Given the description of an element on the screen output the (x, y) to click on. 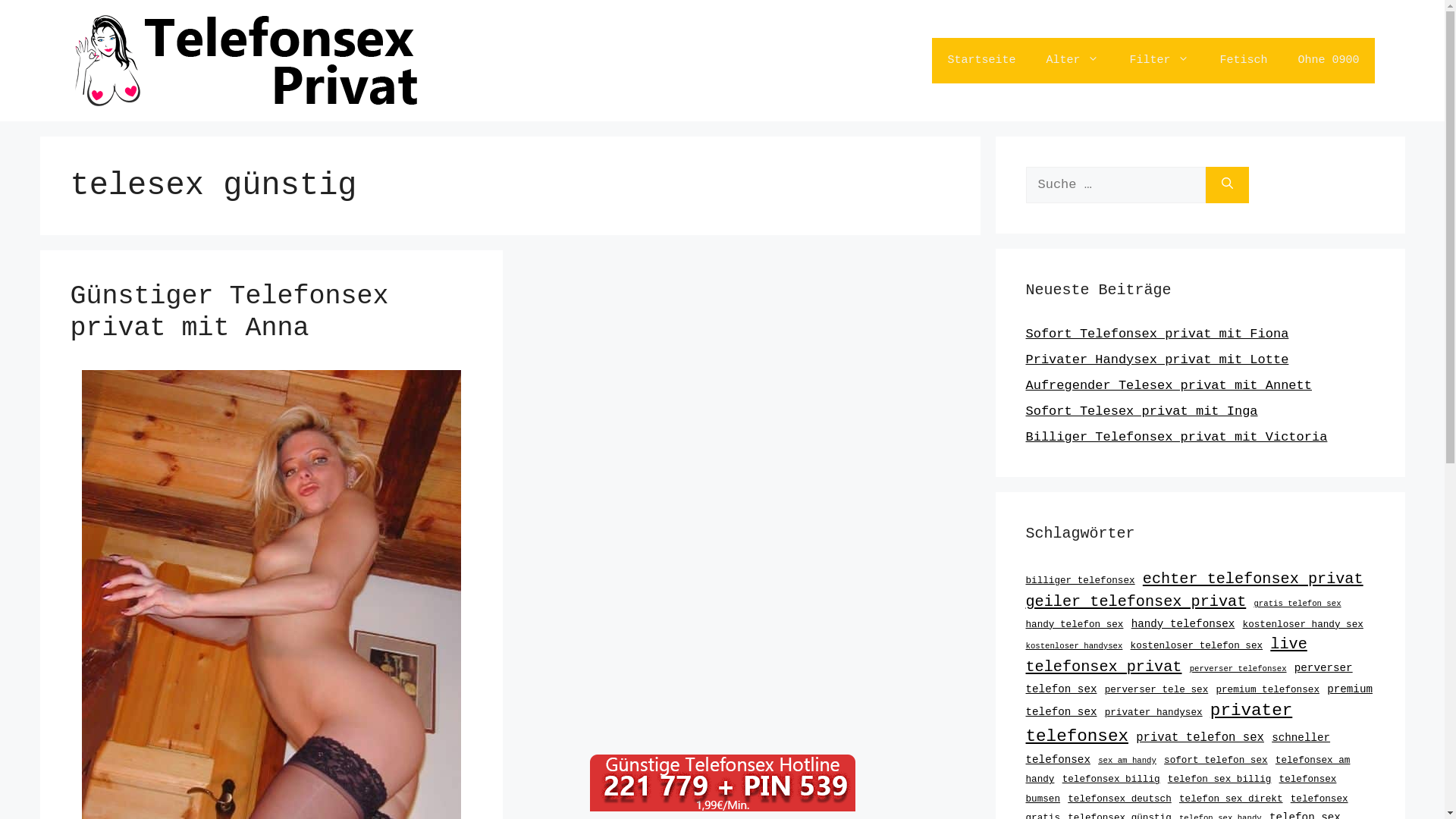
handy telefonsex Element type: text (1183, 624)
gratis telefon sex Element type: text (1296, 603)
Privater Handysex privat mit Lotte Element type: text (1156, 358)
perverser telefon sex Element type: text (1188, 678)
sofort telefon sex Element type: text (1215, 759)
Filter Element type: text (1158, 60)
live telefonsex privat Element type: text (1165, 655)
telefon sex billig Element type: text (1219, 778)
telefonsex am handy Element type: text (1187, 769)
Sofort Telesex privat mit Inga Element type: text (1141, 410)
privat telefon sex Element type: text (1199, 737)
Sofort Telefonsex privat mit Fiona Element type: text (1156, 333)
echter telefonsex privat Element type: text (1252, 578)
Alter Element type: text (1071, 60)
telefon sex direkt Element type: text (1231, 798)
Ohne 0900 Element type: text (1328, 60)
telefonsex deutsch Element type: text (1119, 798)
handy telefon sex Element type: text (1074, 624)
Aufregender Telesex privat mit Annett Element type: text (1168, 384)
kostenloser handy sex Element type: text (1302, 624)
Billiger Telefonsex privat mit Victoria Element type: text (1176, 436)
privater handysex Element type: text (1153, 712)
premium telefonsex Element type: text (1267, 689)
perverser tele sex Element type: text (1156, 689)
schneller telefonsex Element type: text (1177, 748)
telefonsex billig Element type: text (1111, 778)
privater telefonsex Element type: text (1158, 723)
billiger telefonsex Element type: text (1079, 580)
perverser telefonsex Element type: text (1237, 668)
geiler telefonsex privat Element type: text (1135, 601)
sex am handy Element type: text (1127, 760)
premium telefon sex Element type: text (1198, 700)
kostenloser handysex Element type: text (1073, 645)
Fetisch Element type: text (1243, 60)
Telefonsex privat Element type: hover (243, 60)
telefonsex bumsen Element type: text (1180, 788)
kostenloser telefon sex Element type: text (1196, 645)
Suche nach: Element type: hover (1114, 184)
Telefonsex privat Element type: hover (243, 60)
Startseite Element type: text (980, 60)
